Given the description of an element on the screen output the (x, y) to click on. 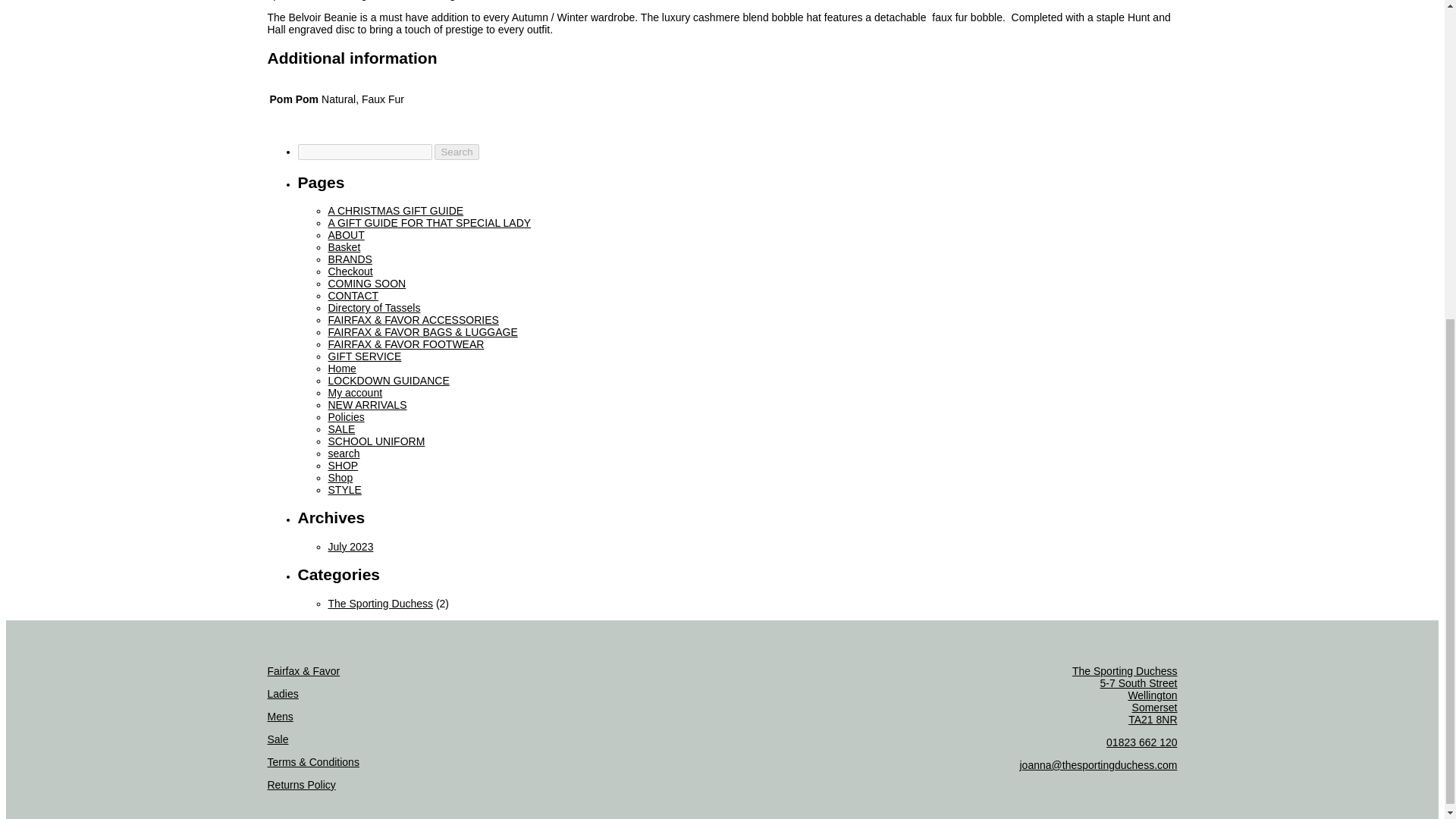
ABOUT (345, 234)
Basket (343, 246)
Search (456, 151)
COMING SOON (366, 283)
CONTACT (352, 295)
Search (456, 151)
BRANDS (349, 259)
GIFT SERVICE (364, 356)
Directory of Tassels (373, 307)
A CHRISTMAS GIFT GUIDE (395, 210)
A GIFT GUIDE FOR THAT SPECIAL LADY (429, 223)
Checkout (349, 271)
